Given the description of an element on the screen output the (x, y) to click on. 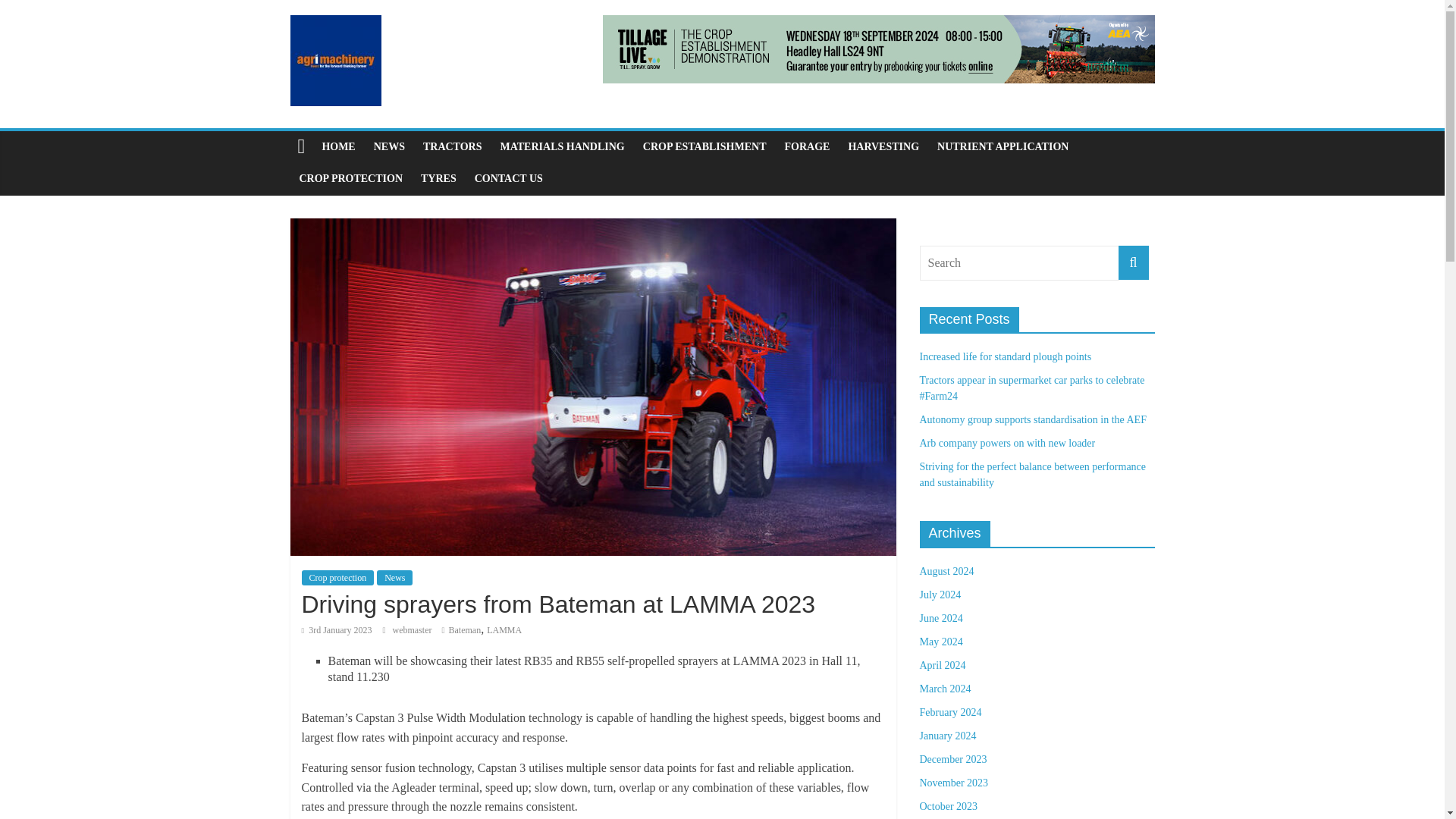
NEWS (389, 146)
Increased life for standard plough points (1004, 356)
News (394, 577)
8:00 pm (336, 629)
Autonomy group supports standardisation in the AEF (1031, 419)
July 2024 (939, 594)
May 2024 (940, 641)
January 2024 (946, 736)
December 2023 (952, 758)
Crop protection (337, 577)
